Given the description of an element on the screen output the (x, y) to click on. 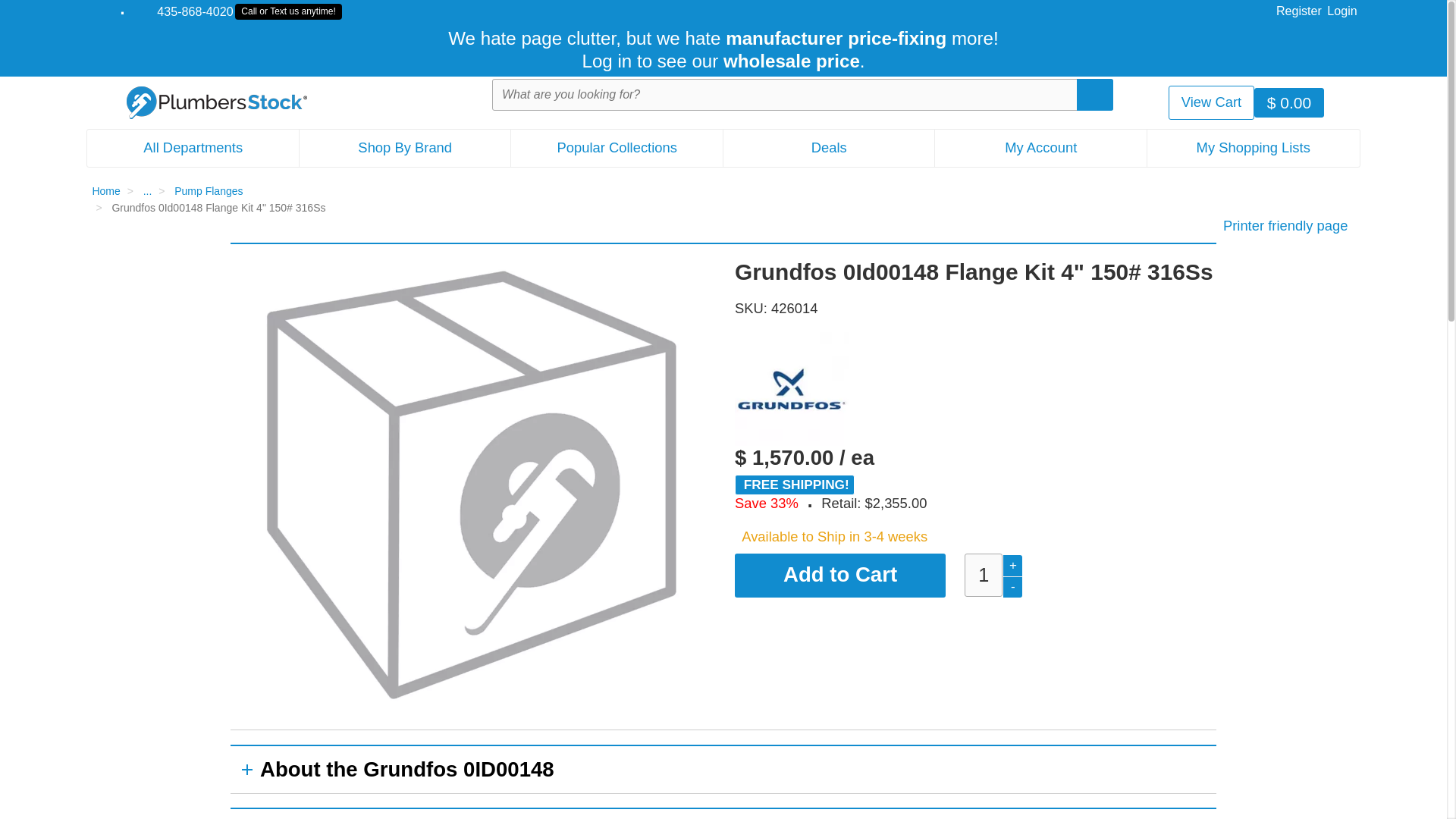
Register (1299, 9)
Login (239, 11)
All Departments (1341, 9)
View Cart (193, 147)
Search (1211, 101)
